Given the description of an element on the screen output the (x, y) to click on. 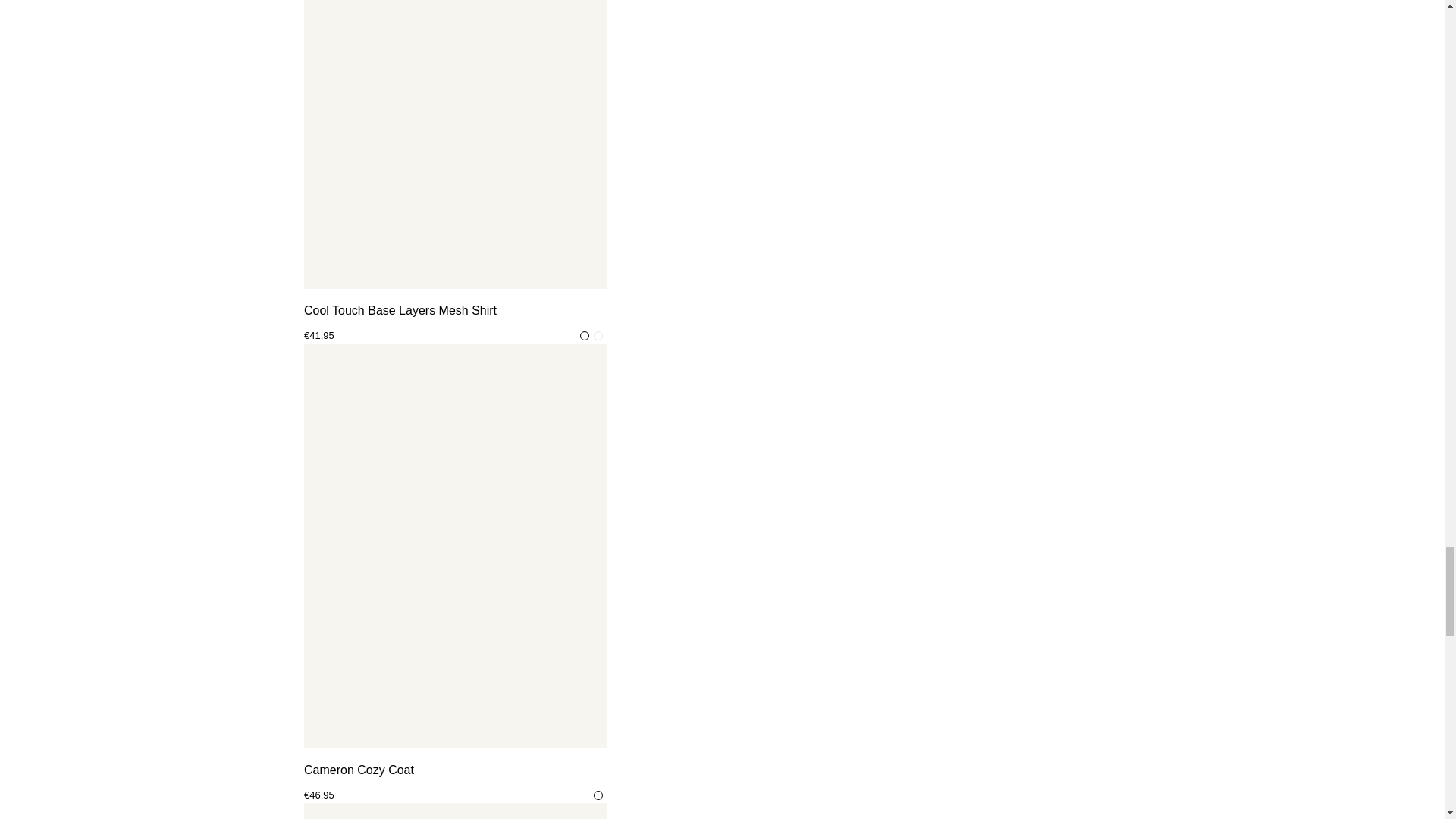
Cool Touch Base Layers Mesh Shirt (454, 311)
Cool Touch Base Layers Mesh Shirt (454, 144)
Cameron Cozy Coat (454, 770)
Centerline Zip Reflective Jacket (454, 811)
